Given the description of an element on the screen output the (x, y) to click on. 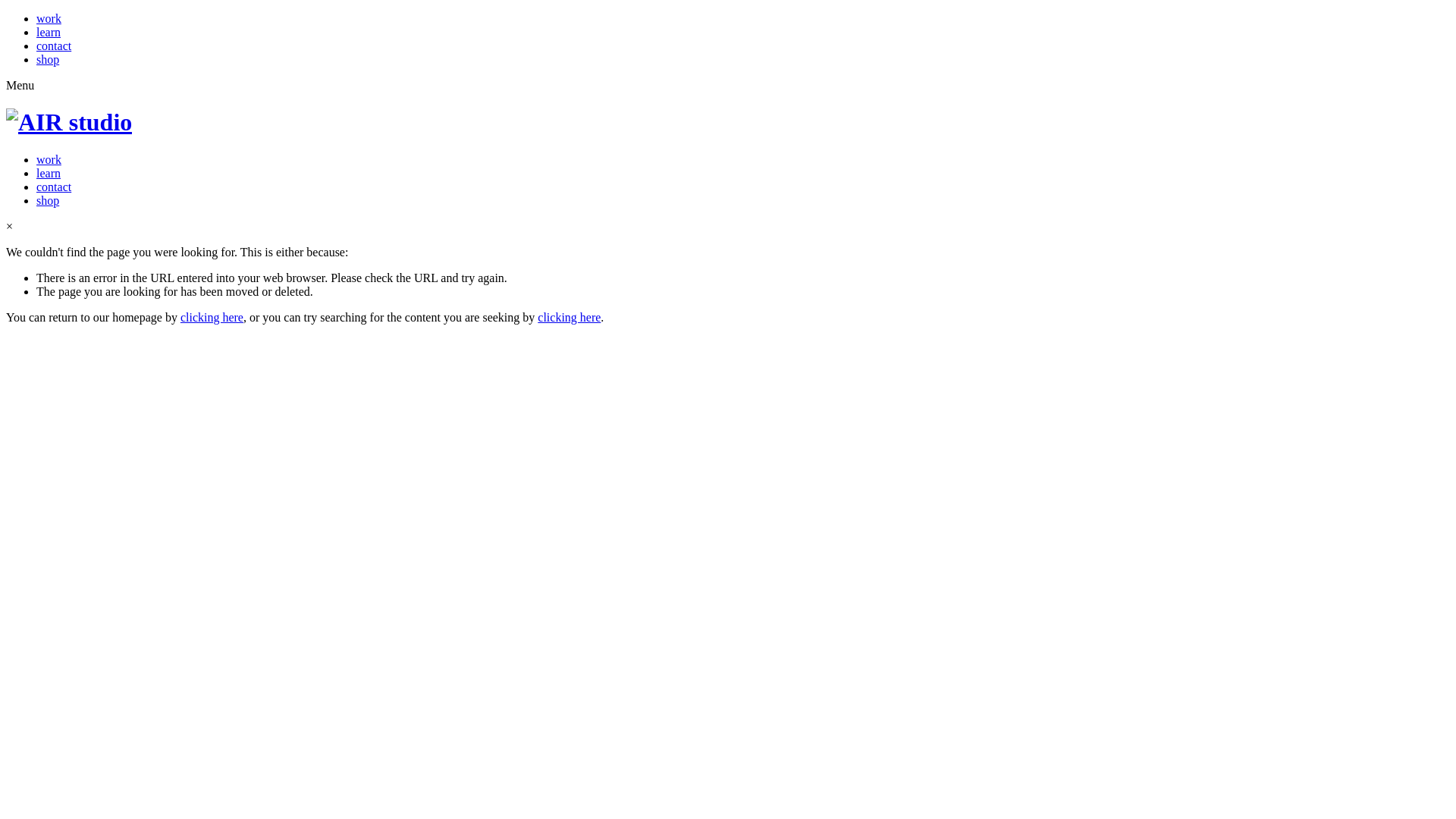
shop Element type: text (47, 200)
clicking here Element type: text (568, 316)
contact Element type: text (53, 45)
shop Element type: text (47, 59)
learn Element type: text (48, 31)
work Element type: text (48, 159)
learn Element type: text (48, 172)
clicking here Element type: text (211, 316)
Menu Element type: text (20, 84)
work Element type: text (48, 18)
contact Element type: text (53, 186)
